Given the description of an element on the screen output the (x, y) to click on. 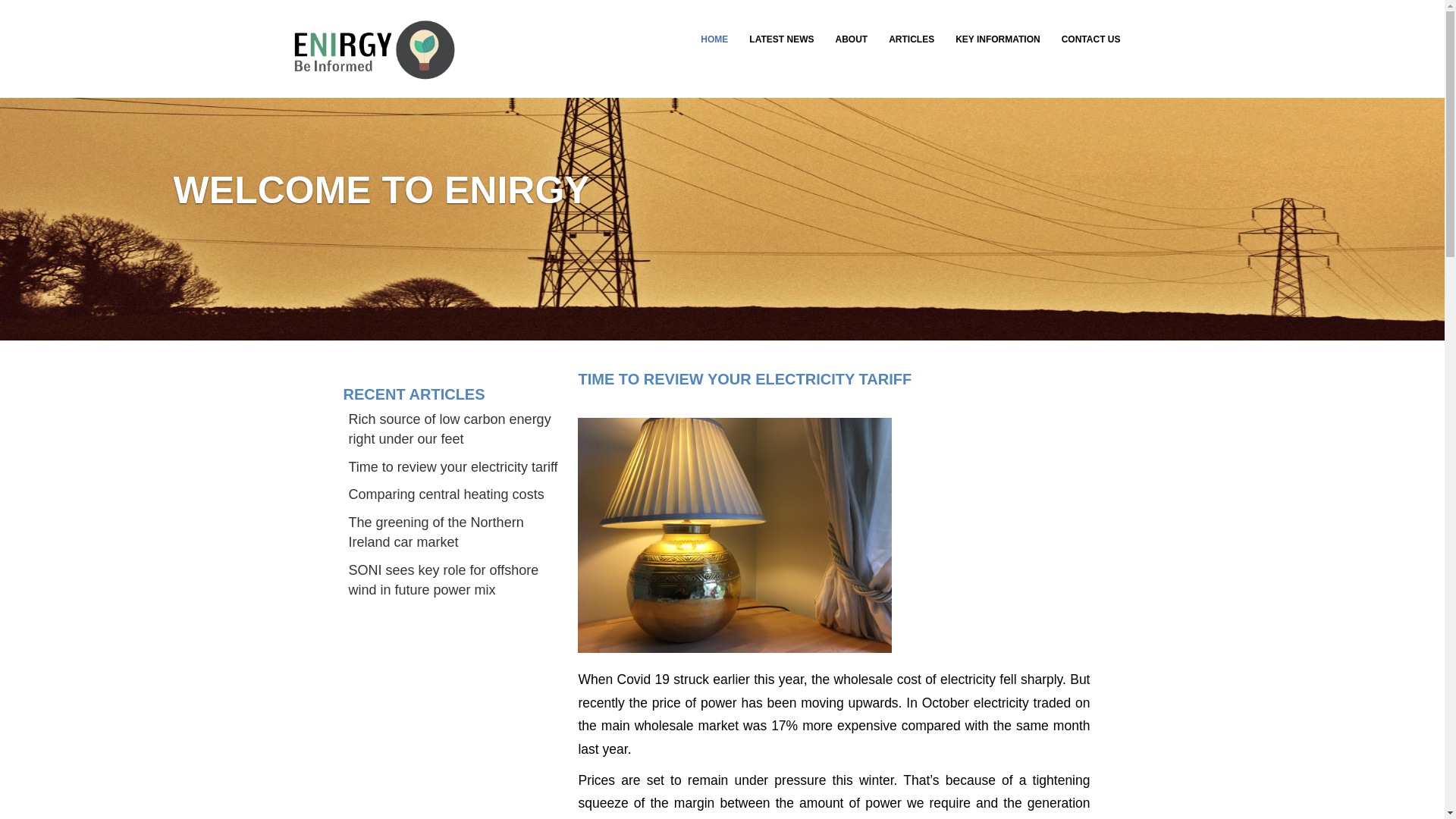
The greening of the Northern Ireland car market (436, 532)
Comparing central heating costs (446, 494)
ABOUT (850, 39)
Rich source of low carbon energy right under our feet (450, 428)
ARTICLES (910, 39)
SONI sees key role for offshore wind in future power mix (443, 579)
LATEST NEWS (781, 39)
CONTACT US (1091, 39)
HOME (714, 39)
KEY INFORMATION (997, 39)
Time to review your electricity tariff (453, 467)
